Given the description of an element on the screen output the (x, y) to click on. 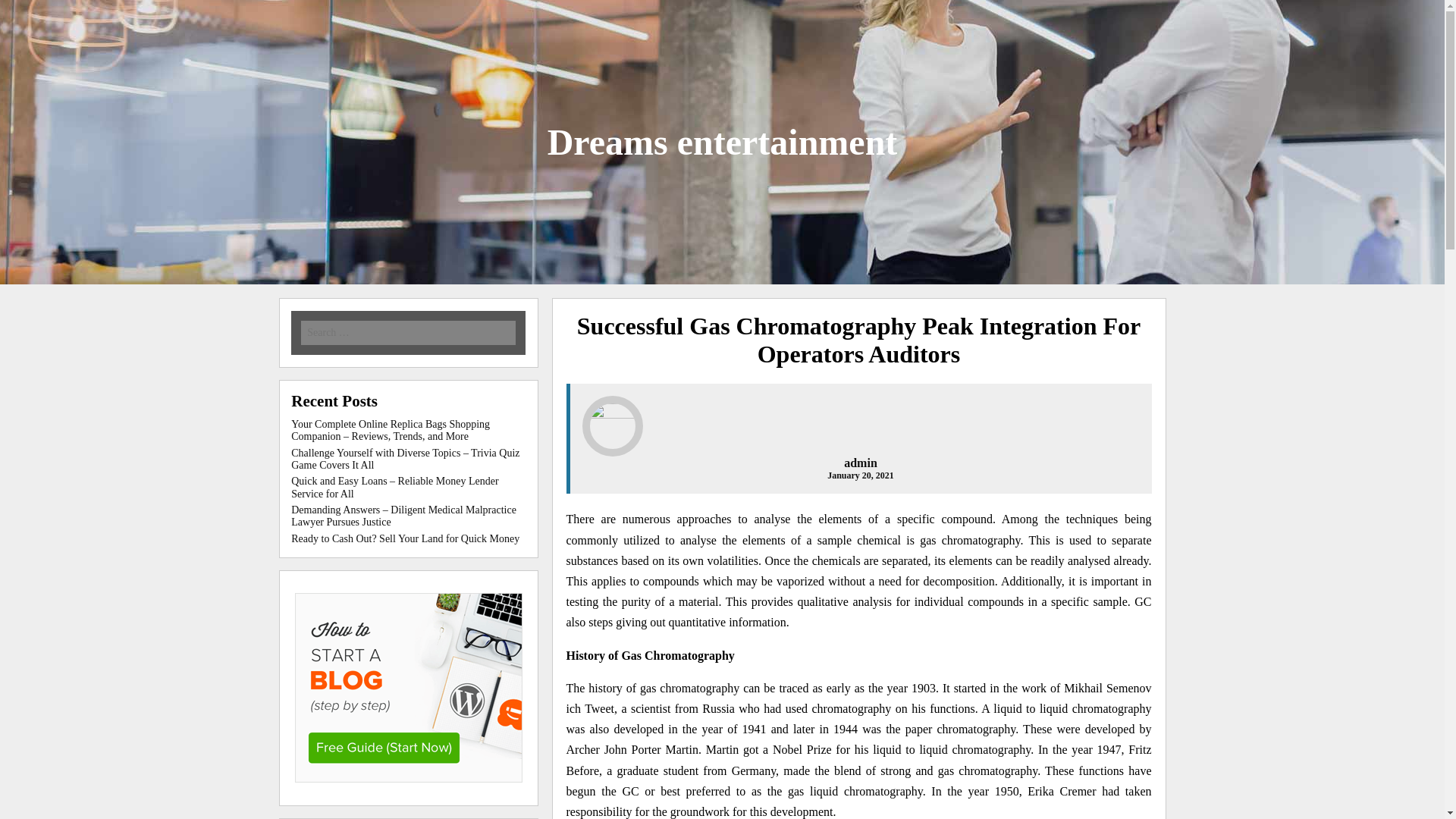
January 20, 2021 (860, 475)
admin (860, 462)
Search (216, 11)
8:43 am (860, 475)
Dreams entertainment (722, 142)
Ready to Cash Out? Sell Your Land for Quick Money (405, 538)
View all posts by admin (860, 462)
